Given the description of an element on the screen output the (x, y) to click on. 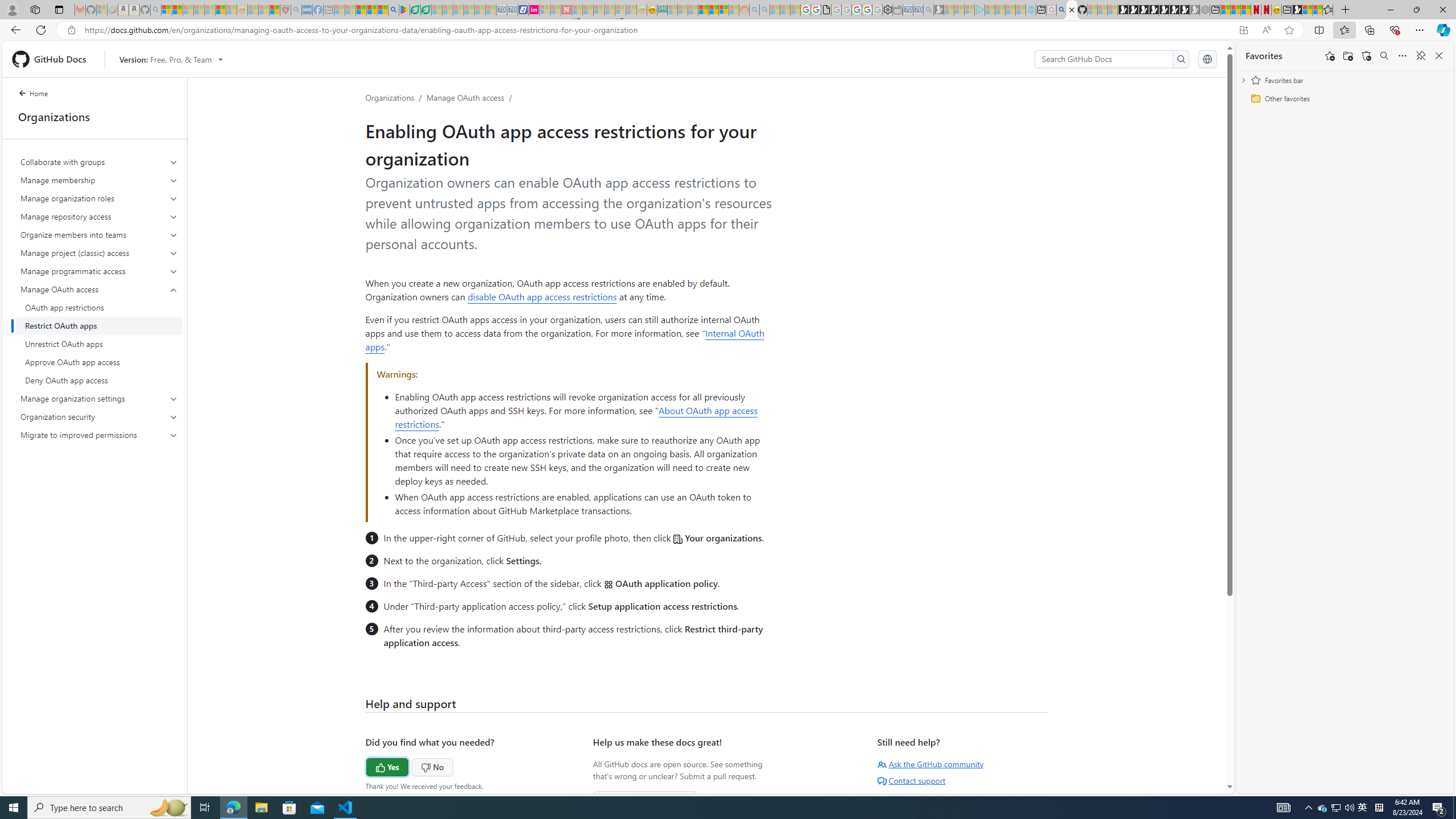
Manage organization roles (99, 198)
Deny OAuth app access (99, 380)
Organization security (99, 416)
Manage programmatic access (99, 271)
